Given the description of an element on the screen output the (x, y) to click on. 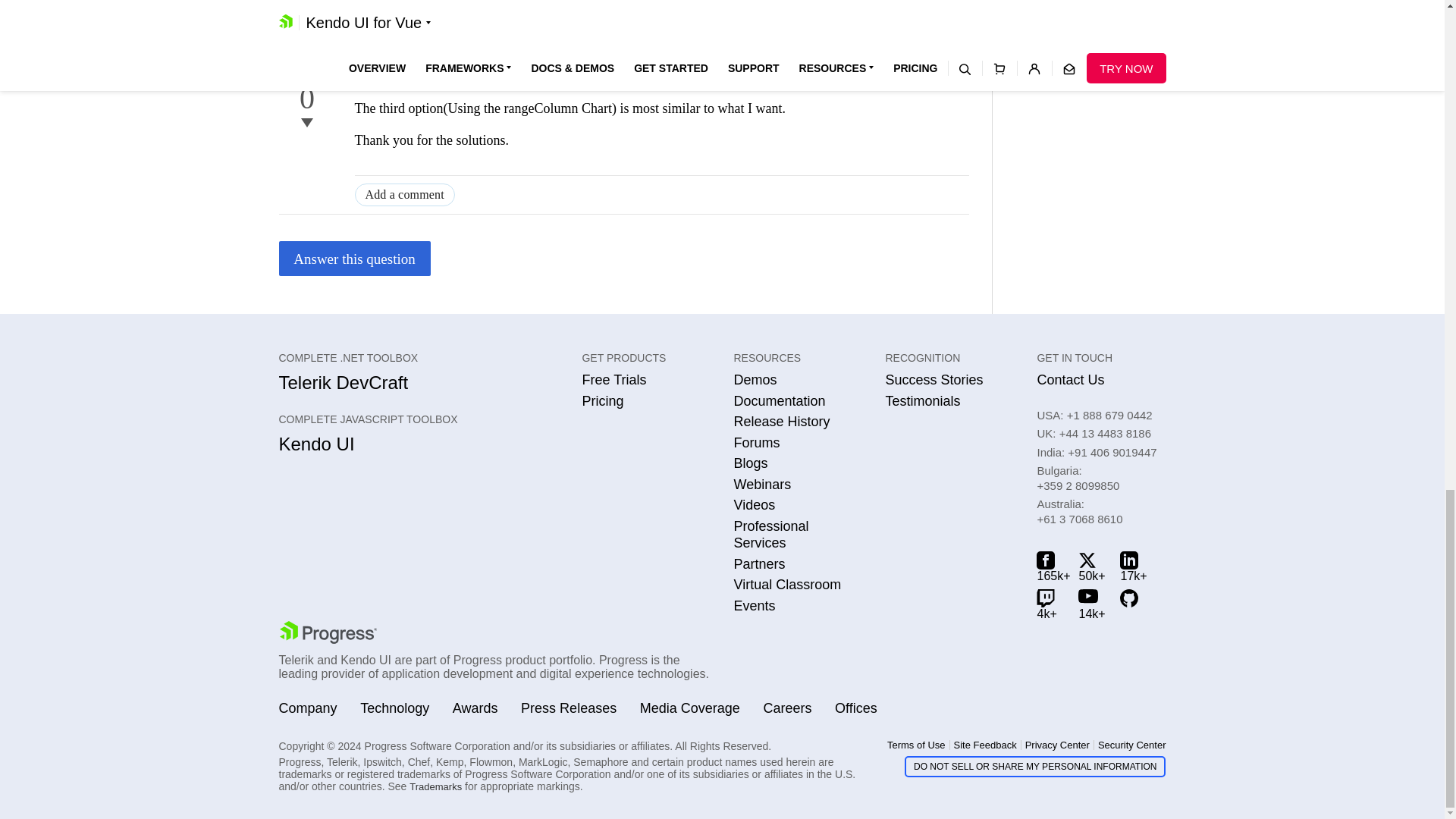
X (1091, 567)
Twitch (1049, 604)
GitHub (1133, 604)
This answer is not helpful. (306, 122)
This answer is helpful. (306, 74)
LinkedIn (1133, 567)
YouTube (1091, 604)
Facebook (1049, 567)
